Given the description of an element on the screen output the (x, y) to click on. 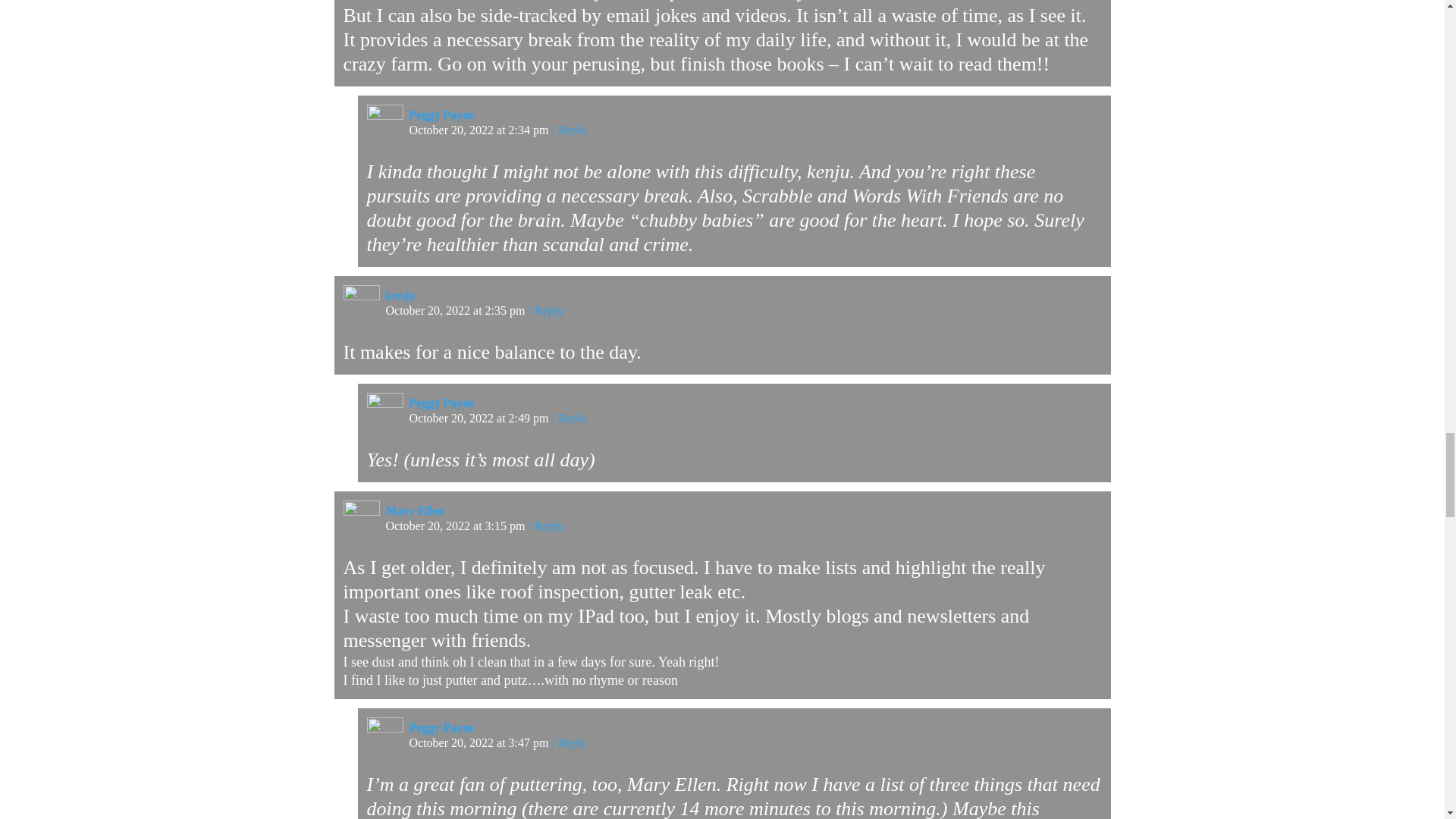
Reply (545, 525)
Reply (568, 742)
Reply (568, 418)
Reply (545, 309)
Reply (568, 129)
